Given the description of an element on the screen output the (x, y) to click on. 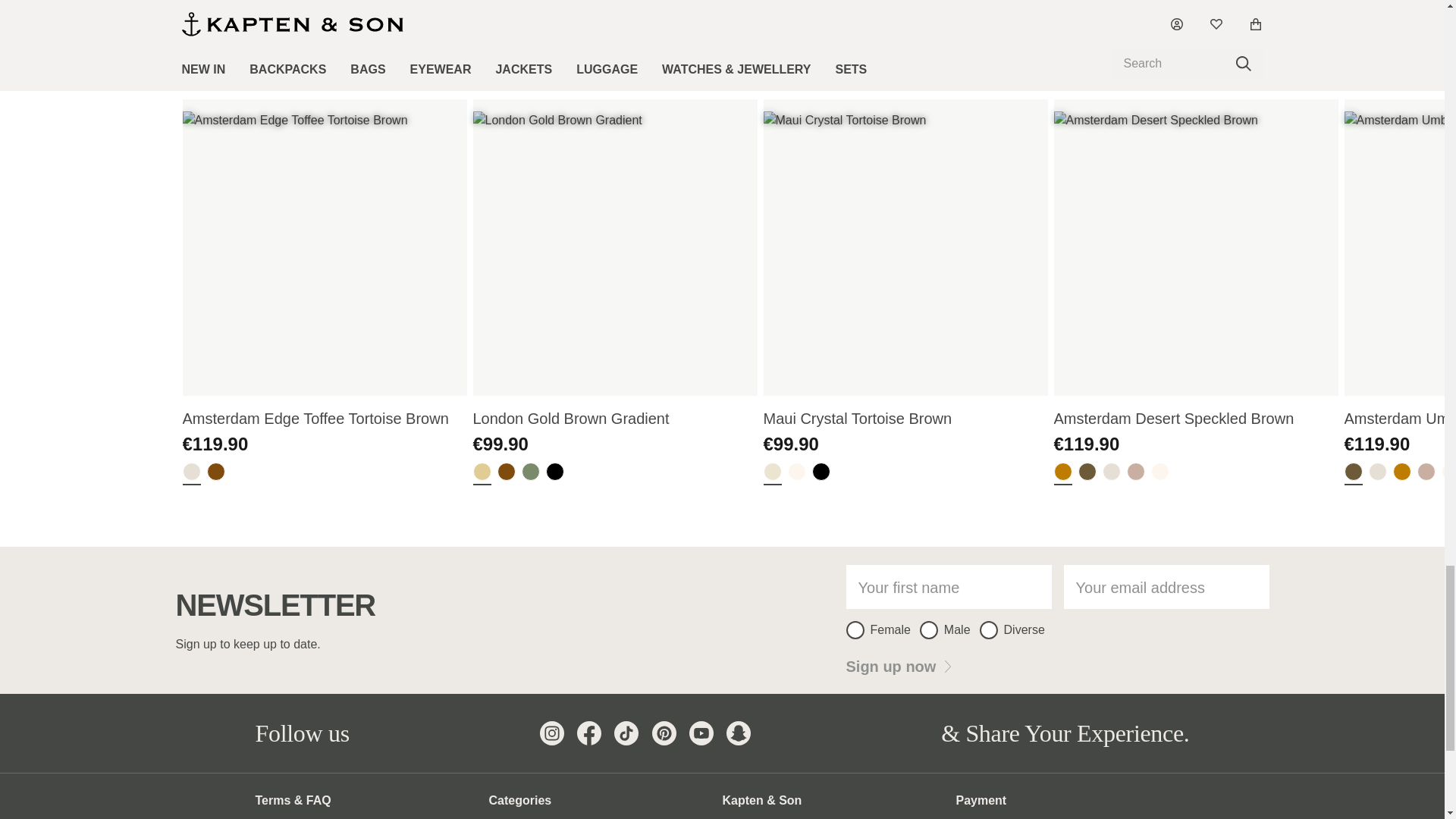
Amsterdam Edge Toffee Tortoise Brown - Tortoise (215, 474)
London Gold Brown Gradient - Green (530, 474)
London Gold Brown Gradient - Tortoise (506, 474)
diverse (988, 629)
Amsterdam Edge Toffee Tortoise Brown - Oyster (191, 474)
London Gold Brown Gradient - Black (555, 474)
London Gold Brown Gradient - Gold (482, 474)
weiblich (854, 629)
